Given the description of an element on the screen output the (x, y) to click on. 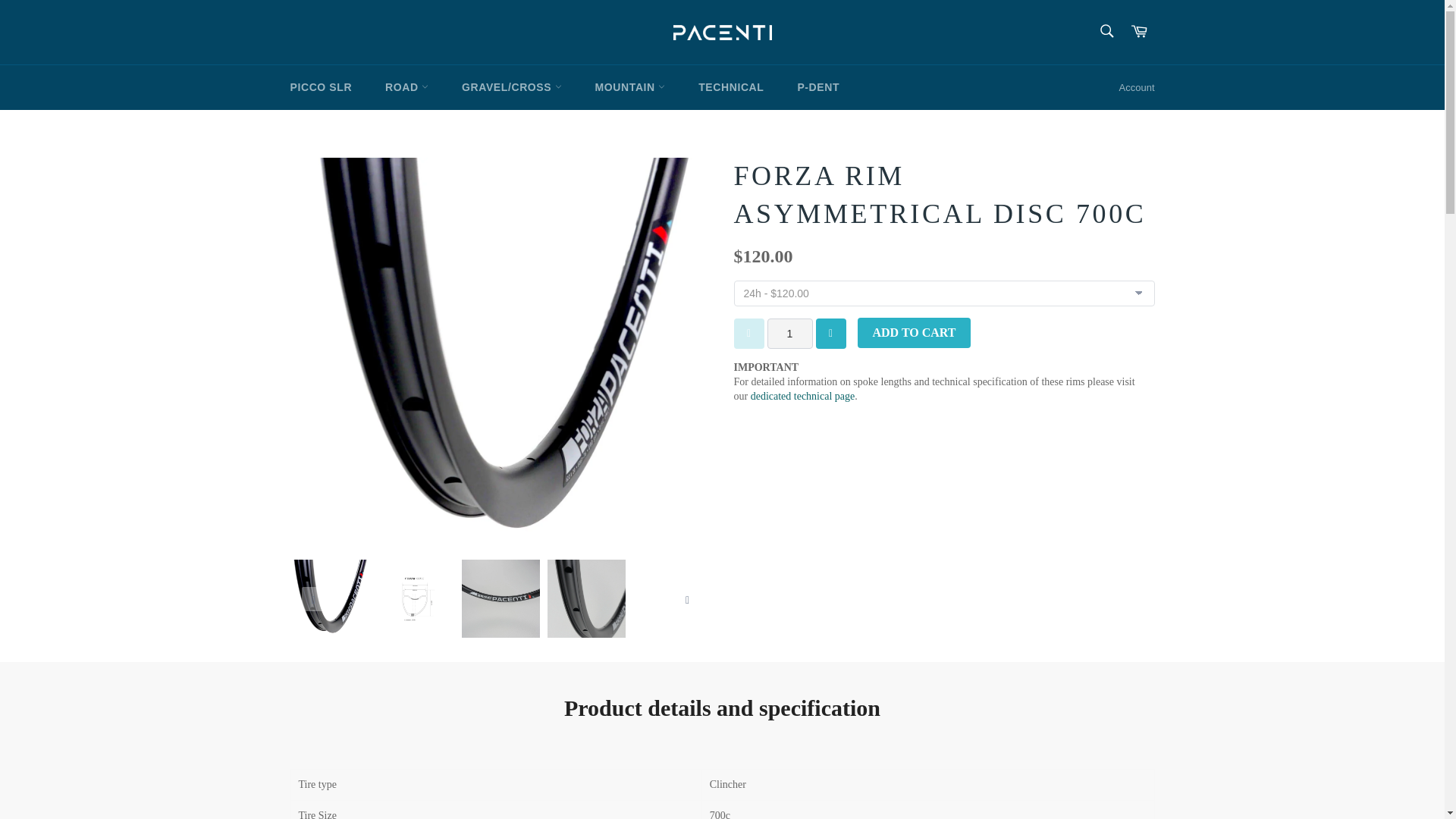
1 (789, 333)
